Given the description of an element on the screen output the (x, y) to click on. 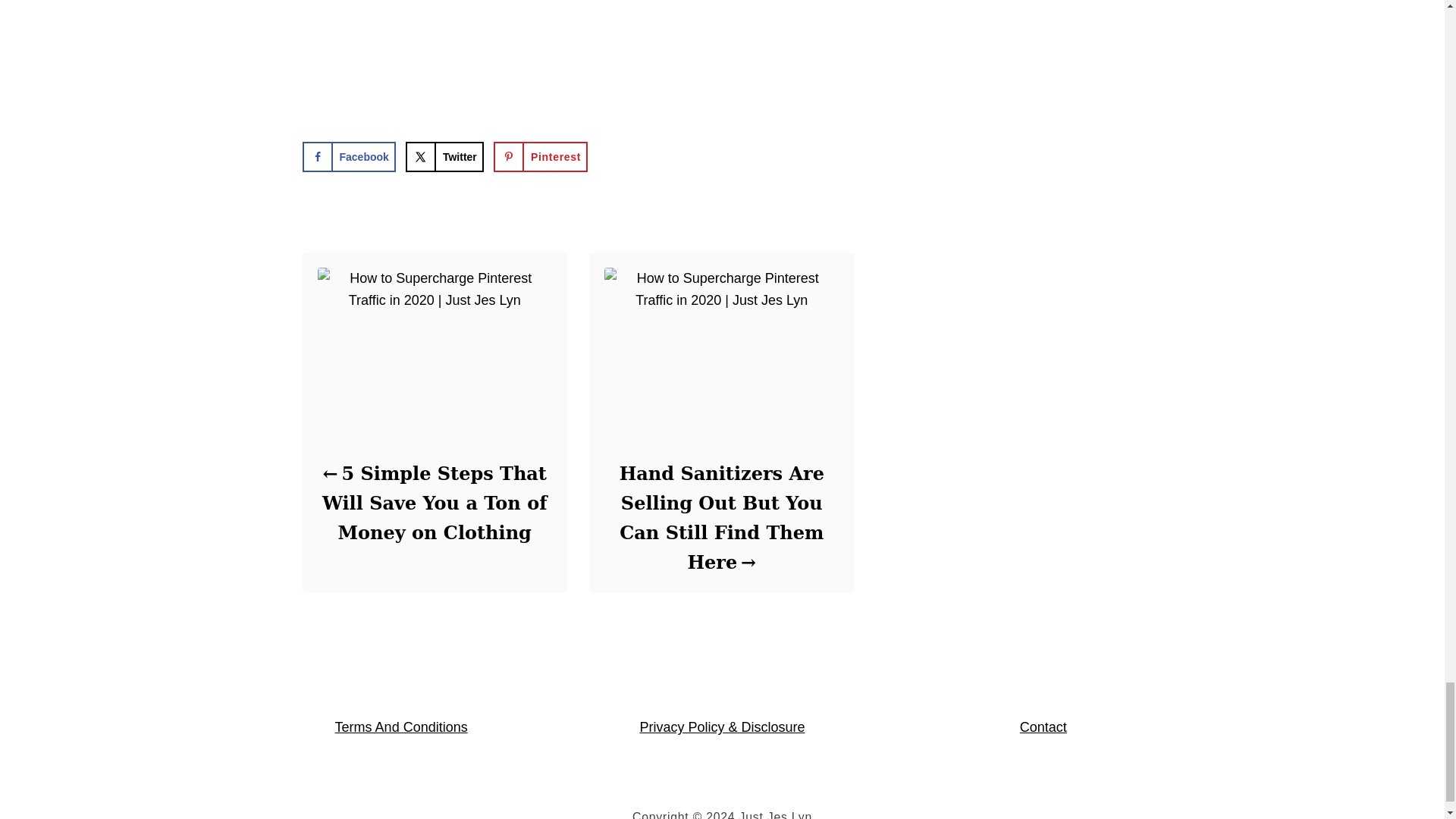
Facebook (347, 156)
Twitter (444, 156)
Terms And Conditions (400, 726)
5 Simple Steps That Will Save You a Ton of Money on Clothing (434, 502)
Contact (1043, 726)
Pinterest (540, 156)
Share on X (444, 156)
Share on Facebook (347, 156)
Save to Pinterest (540, 156)
